Given the description of an element on the screen output the (x, y) to click on. 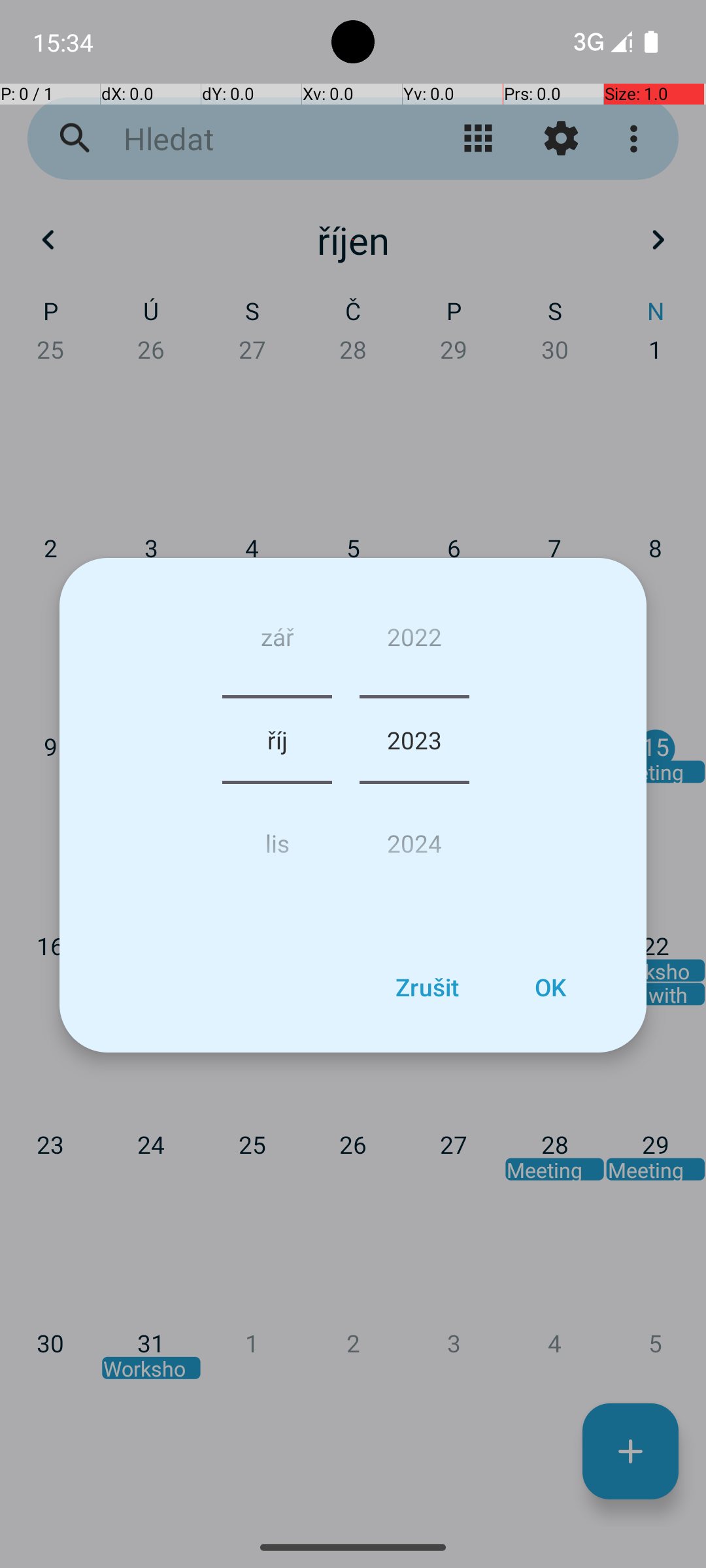
Zrušit Element type: android.widget.Button (426, 987)
zář Element type: android.widget.Button (277, 641)
říj Element type: android.widget.EditText (277, 739)
lis Element type: android.widget.Button (277, 837)
